Given the description of an element on the screen output the (x, y) to click on. 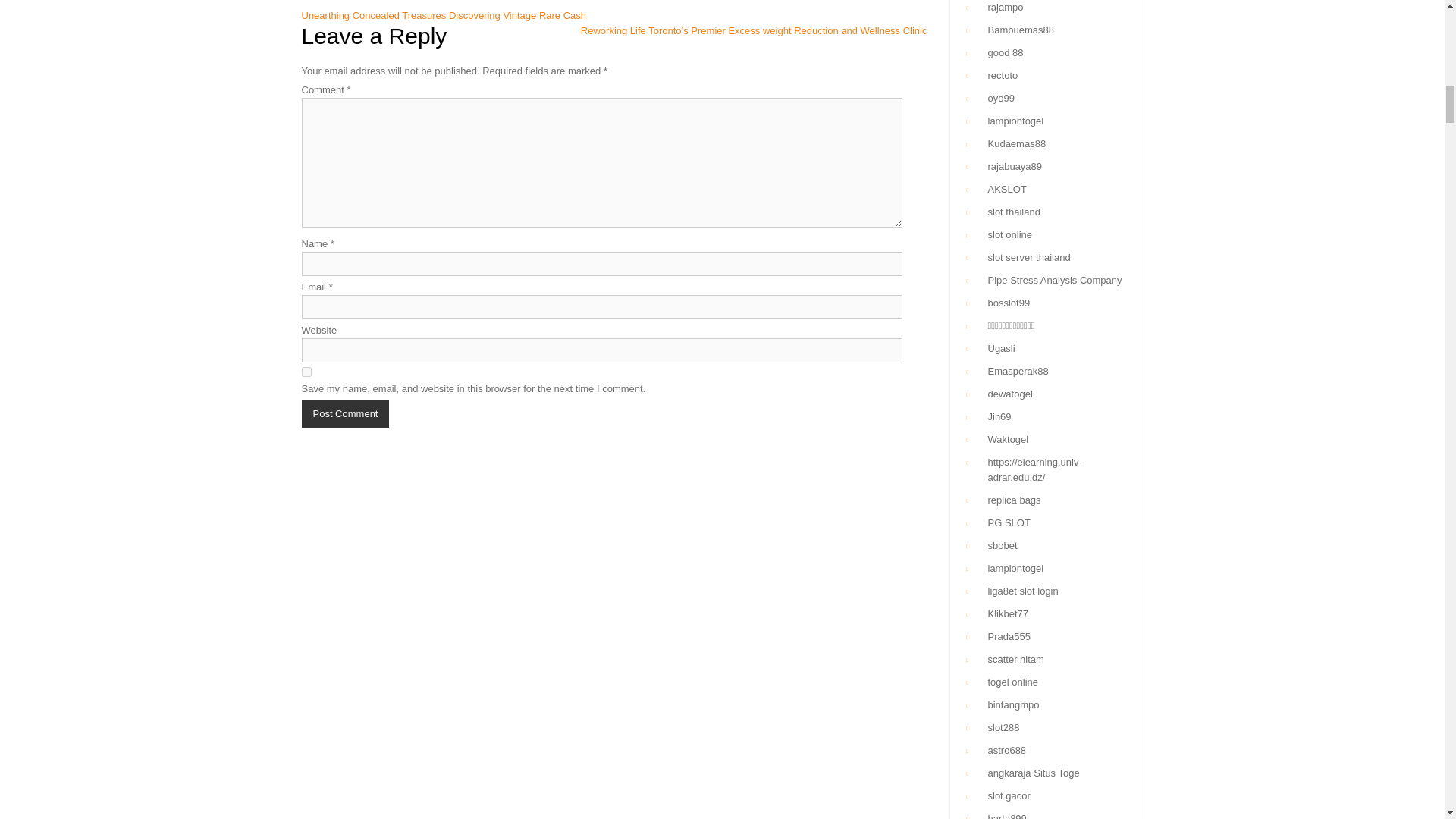
Post Comment (345, 413)
Post Comment (345, 413)
Unearthing Concealed Treasures Discovering Vintage Rare Cash (443, 15)
yes (306, 371)
